Given the description of an element on the screen output the (x, y) to click on. 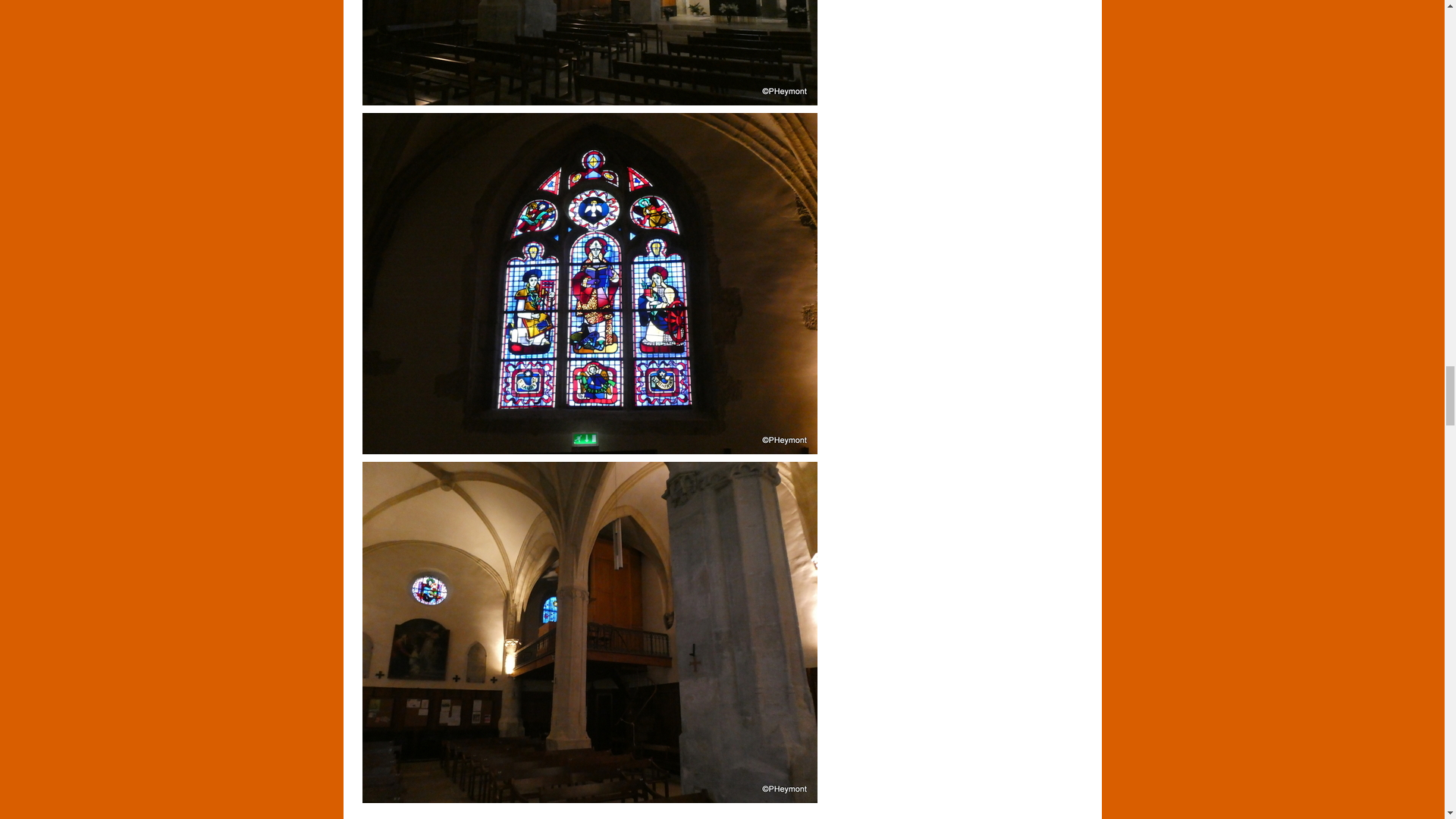
P1210198 (589, 52)
